Given the description of an element on the screen output the (x, y) to click on. 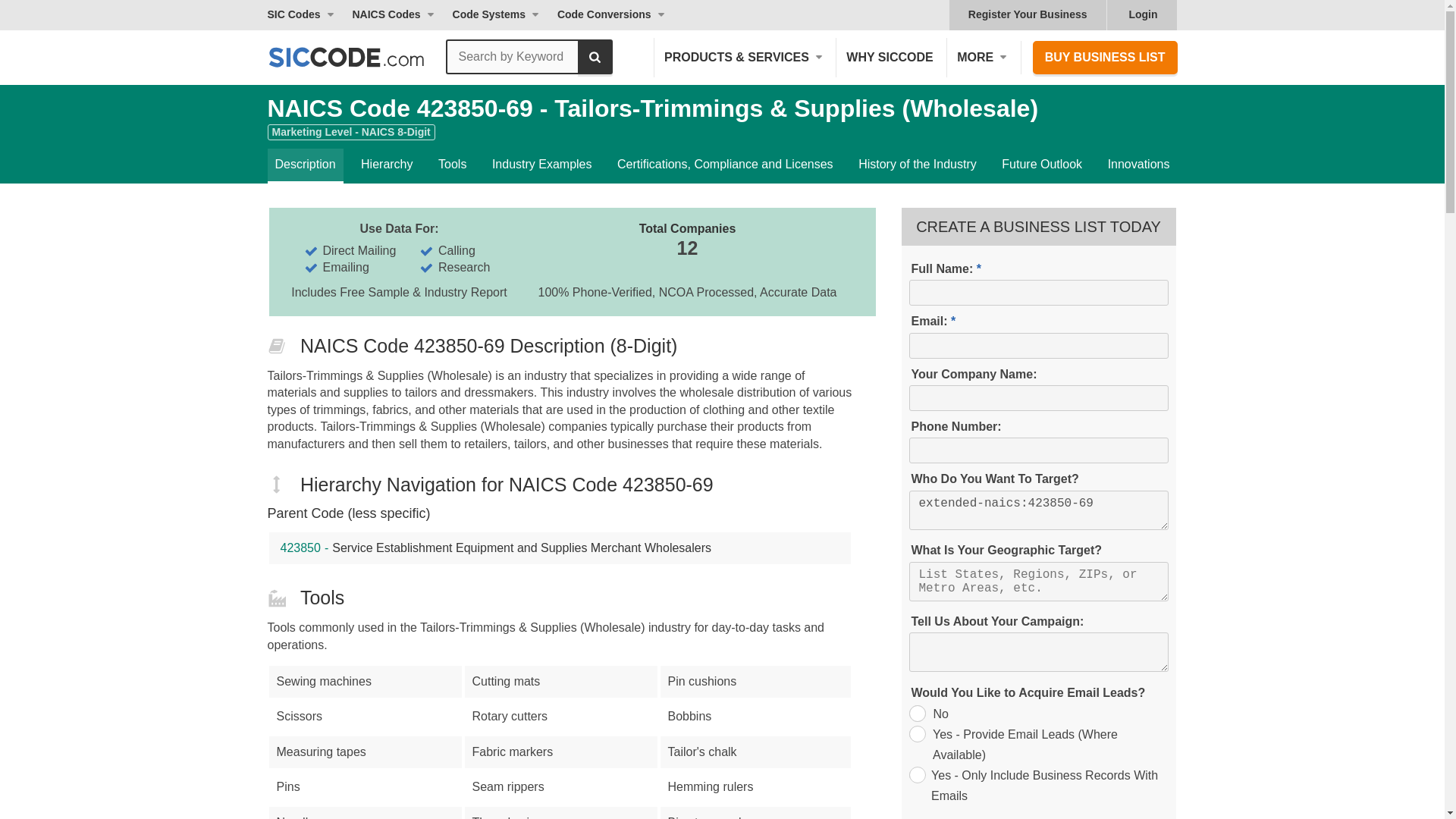
SEARCH (595, 56)
No (916, 713)
SEARCH (595, 56)
Yes, where available (916, 733)
Yes, Only With Emails (915, 774)
